Given the description of an element on the screen output the (x, y) to click on. 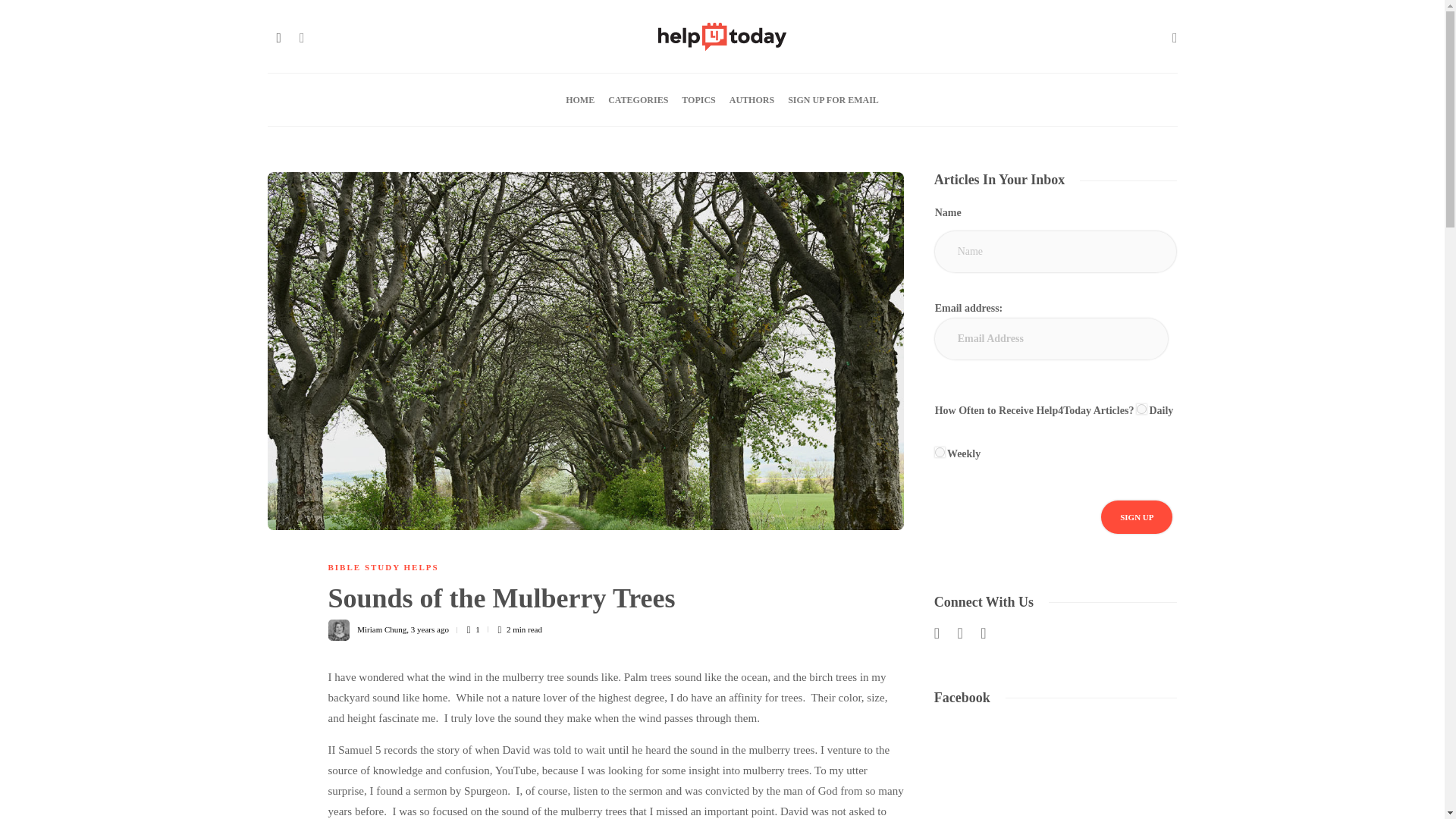
SIGN UP FOR EMAIL (833, 99)
Sign Up (1136, 516)
c6cf8e2dc3 (1142, 409)
Sounds of the Mulberry Trees (603, 601)
6b9d5103f3 (939, 452)
BIBLE STUDY HELPS (382, 566)
CATEGORIES (638, 99)
